Given the description of an element on the screen output the (x, y) to click on. 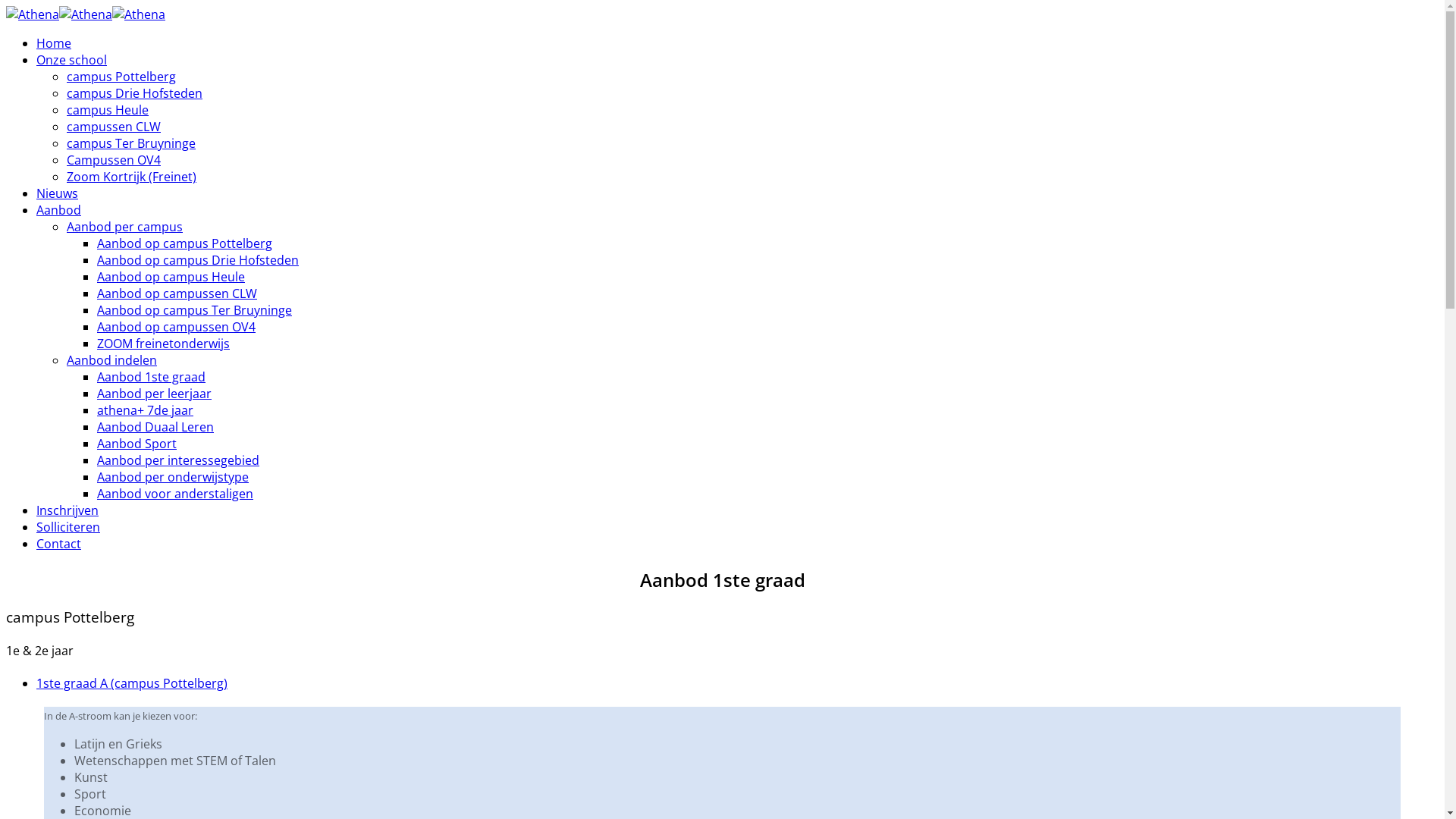
Aanbod indelen Element type: text (111, 359)
campus Heule Element type: text (107, 109)
Aanbod Duaal Leren Element type: text (155, 426)
Aanbod per onderwijstype Element type: text (172, 476)
Aanbod op campus Heule Element type: text (170, 276)
Campussen OV4 Element type: text (113, 159)
campus Pottelberg Element type: text (120, 76)
campus Drie Hofsteden Element type: text (134, 92)
Aanbod Element type: text (58, 209)
Aanbod Sport Element type: text (136, 443)
Zoom Kortrijk (Freinet) Element type: text (131, 176)
Onze school Element type: text (71, 59)
campussen CLW Element type: text (113, 126)
Inschrijven Element type: text (67, 510)
campus Ter Bruyninge Element type: text (130, 142)
Aanbod op campussen CLW Element type: text (177, 293)
Aanbod op campus Pottelberg Element type: text (184, 243)
athena+ 7de jaar Element type: text (145, 409)
Aanbod 1ste graad Element type: text (151, 376)
Aanbod per leerjaar Element type: text (154, 393)
Aanbod op campus Ter Bruyninge Element type: text (194, 309)
ZOOM freinetonderwijs Element type: text (163, 343)
Solliciteren Element type: text (68, 526)
Aanbod per interessegebied Element type: text (178, 459)
1ste graad A (campus Pottelberg) Element type: text (131, 682)
Aanbod op campussen OV4 Element type: text (176, 326)
Home Element type: text (53, 42)
Aanbod per campus Element type: text (124, 226)
Nieuws Element type: text (57, 193)
Aanbod op campus Drie Hofsteden Element type: text (197, 259)
Contact Element type: text (58, 543)
Aanbod voor anderstaligen Element type: text (175, 493)
